Given the description of an element on the screen output the (x, y) to click on. 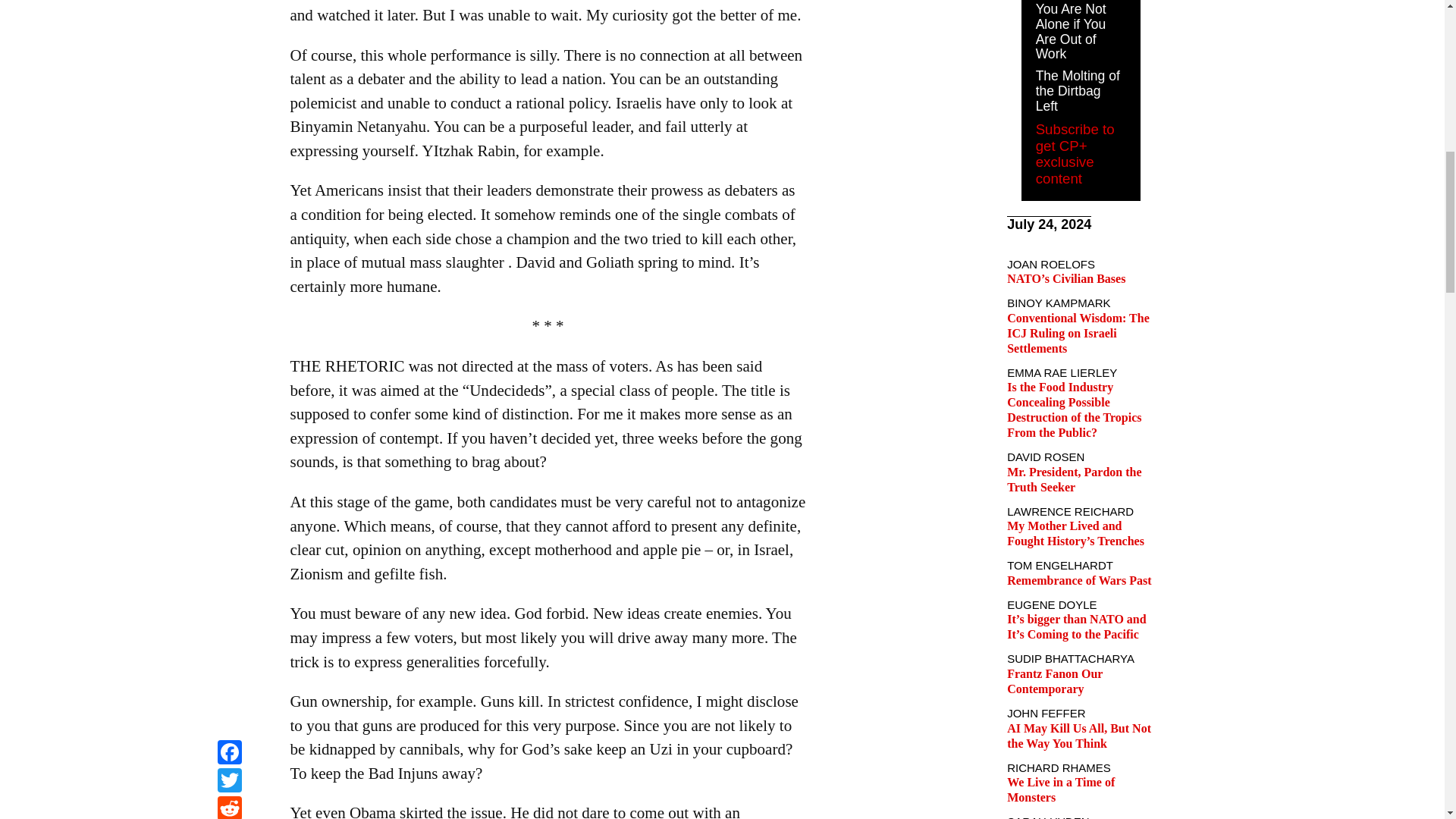
You Are Not Alone if You Are Out of Work (1070, 31)
Email (229, 18)
Reddit (229, 2)
The Molting of the Dirtbag Left (1077, 90)
Email (229, 18)
Reddit (229, 2)
